Given the description of an element on the screen output the (x, y) to click on. 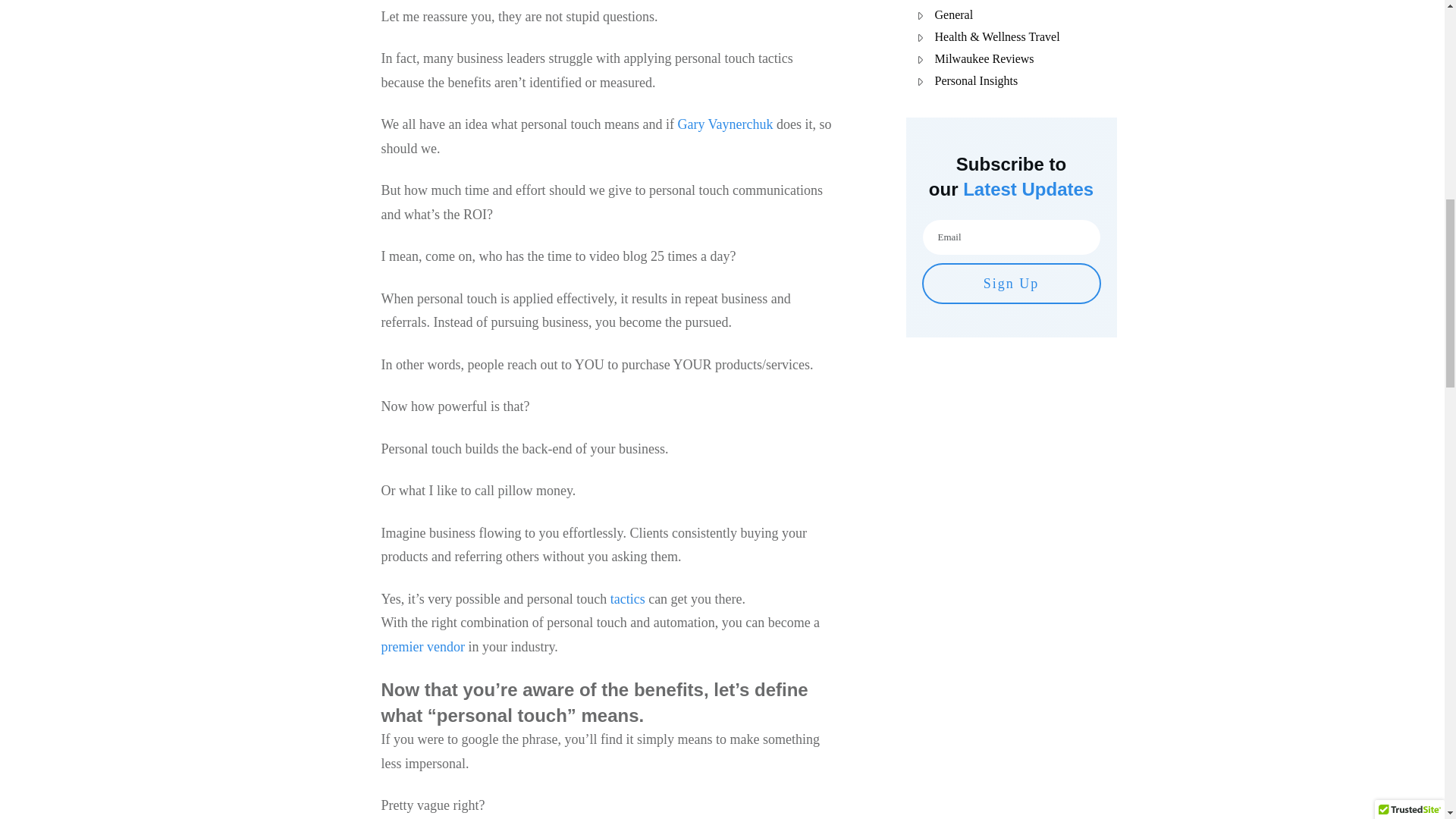
premier vendor (422, 646)
Gary Vaynerchuk (725, 124)
tactics (627, 598)
